Given the description of an element on the screen output the (x, y) to click on. 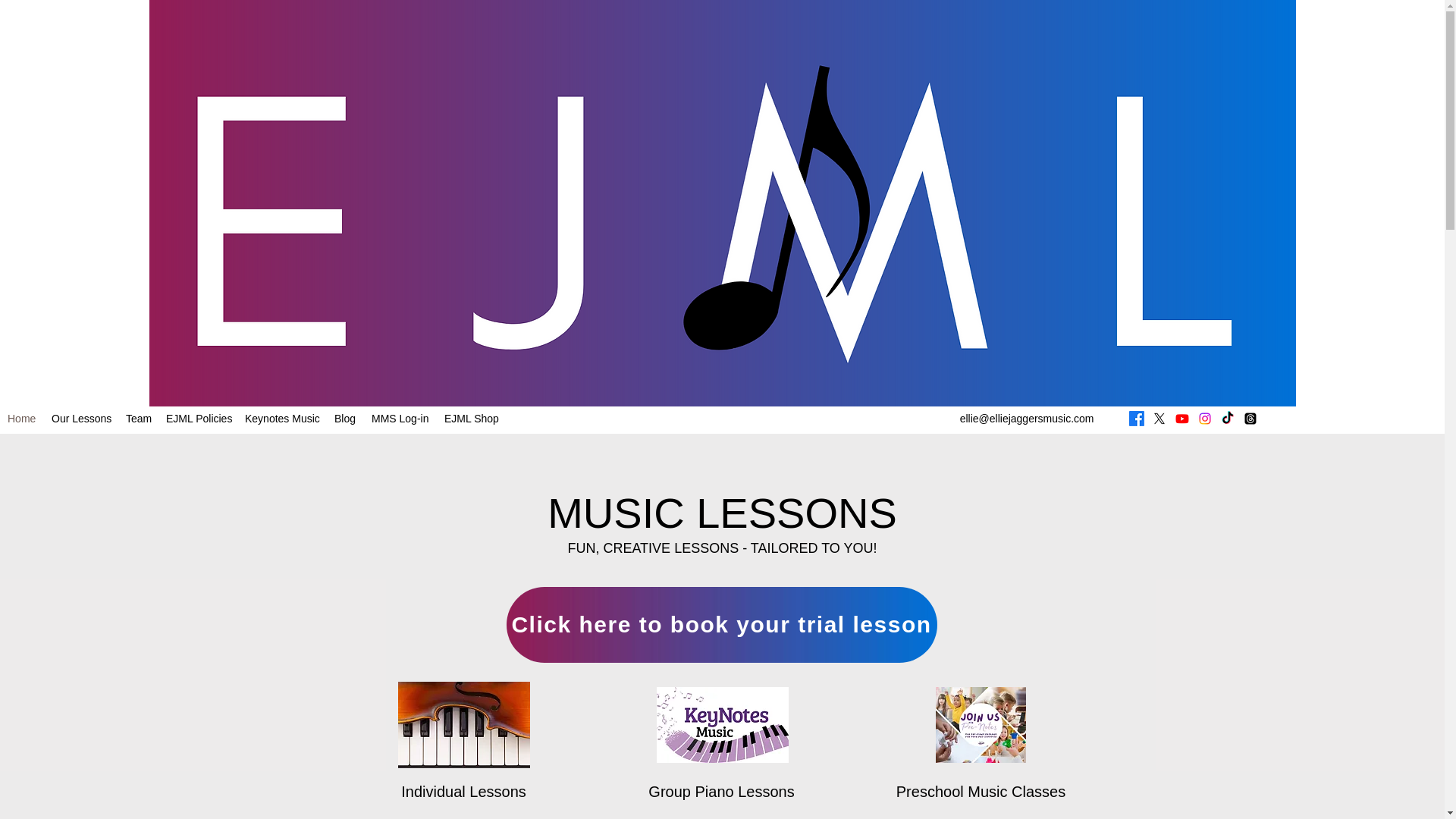
Team (137, 418)
Home (21, 418)
Blog (345, 418)
EJML Shop (470, 418)
Click here to book your trial lesson (721, 624)
Our Lessons (80, 418)
Keynotes Music (281, 418)
MMS Log-in (400, 418)
EJML Policies (197, 418)
